Given the description of an element on the screen output the (x, y) to click on. 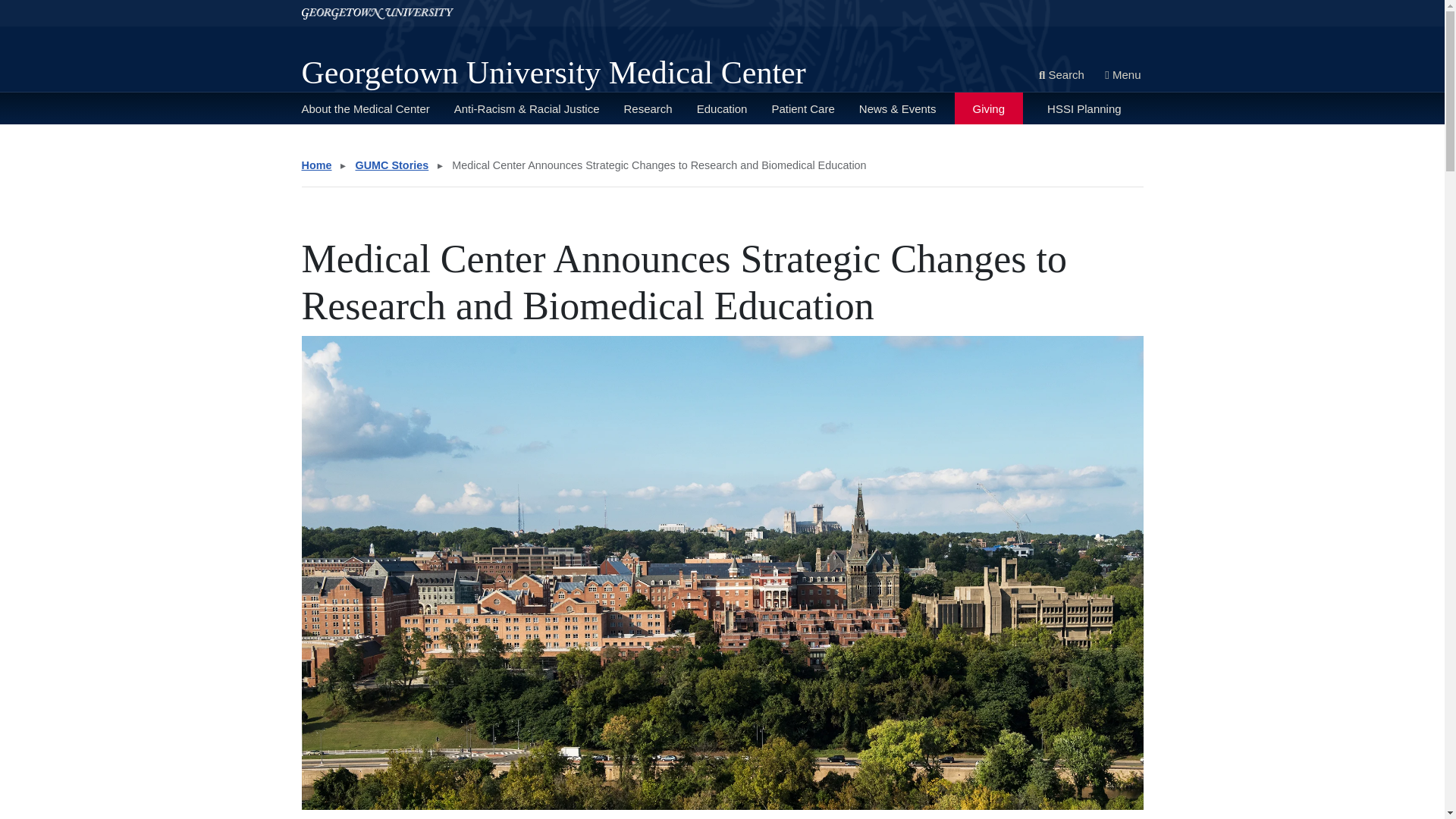
Education (722, 107)
Toggle sub-navigation (372, 144)
About the Medical Center (365, 107)
Menu (1122, 75)
Toggle sub-navigation (768, 144)
Georgetown University Medical Center (553, 72)
Toggle sub-navigation (694, 144)
Skip to main site menu (61, 6)
Research (647, 107)
Skip to main content (55, 6)
Search (1061, 75)
